Given the description of an element on the screen output the (x, y) to click on. 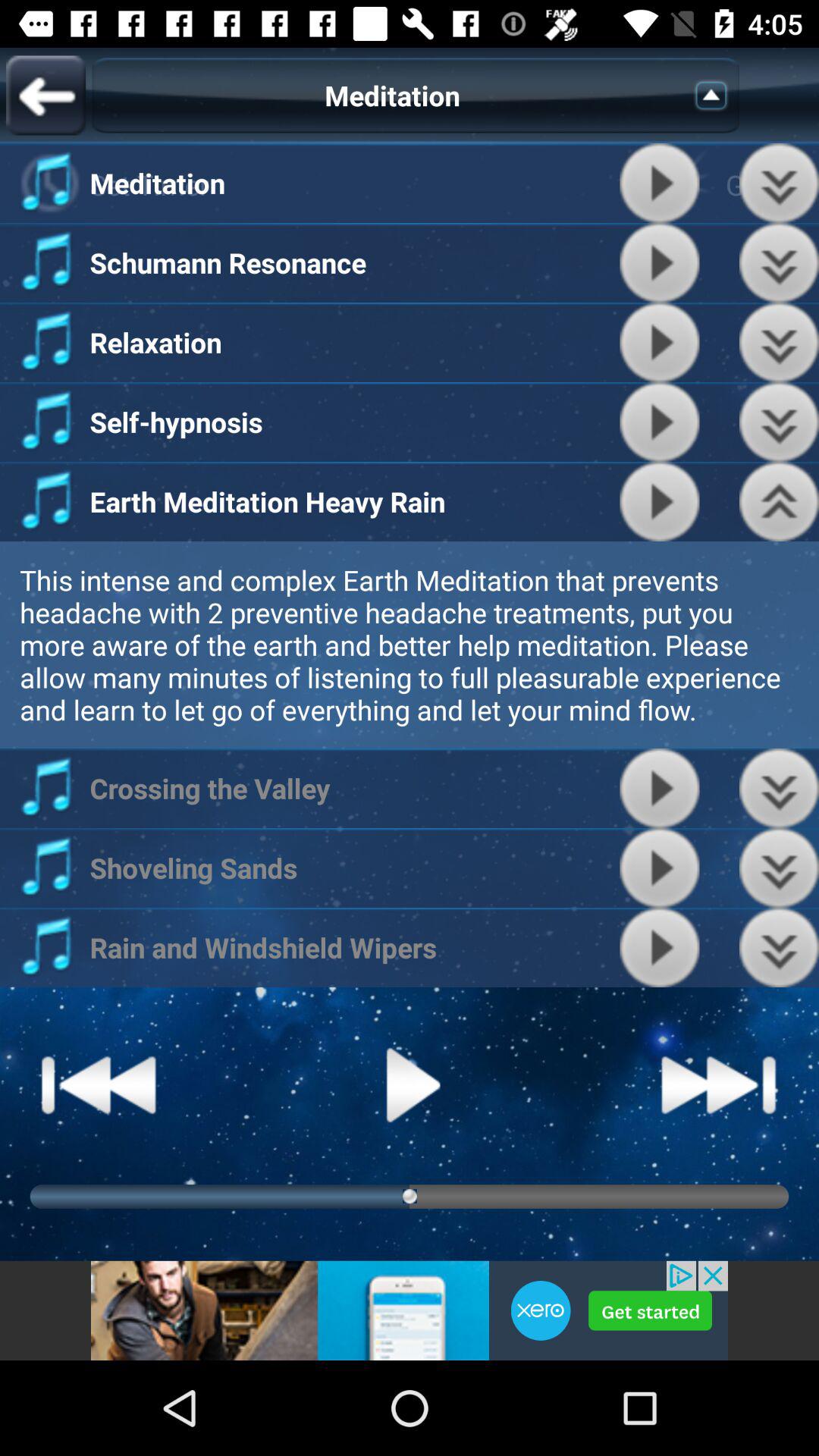
play song (659, 947)
